Given the description of an element on the screen output the (x, y) to click on. 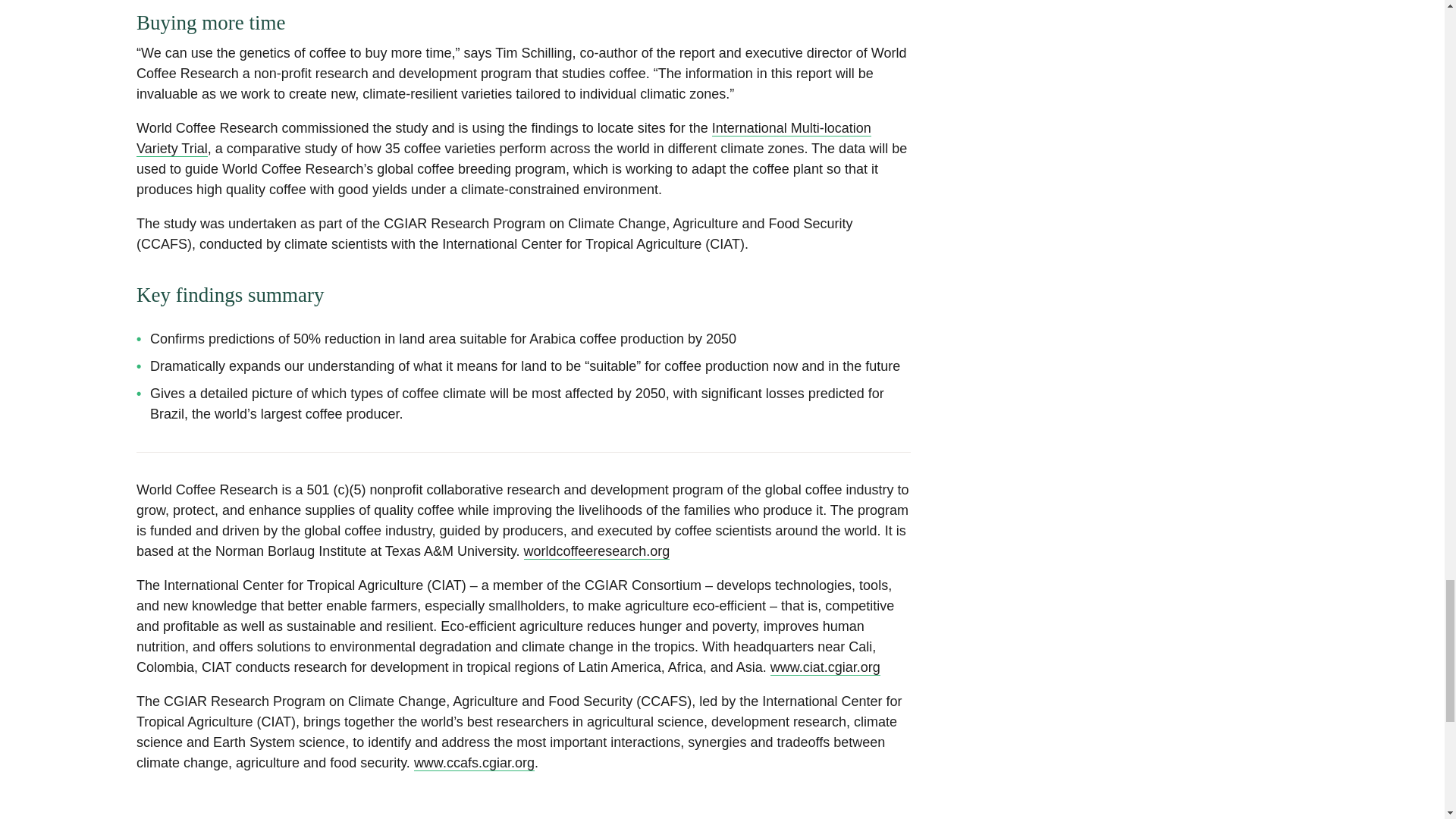
International Multi-location Variety Trial (503, 138)
www.ciat.cgiar.org (825, 667)
worldcoffeeresearch.org (596, 551)
www.ccafs.cgiar.org (473, 763)
